Given the description of an element on the screen output the (x, y) to click on. 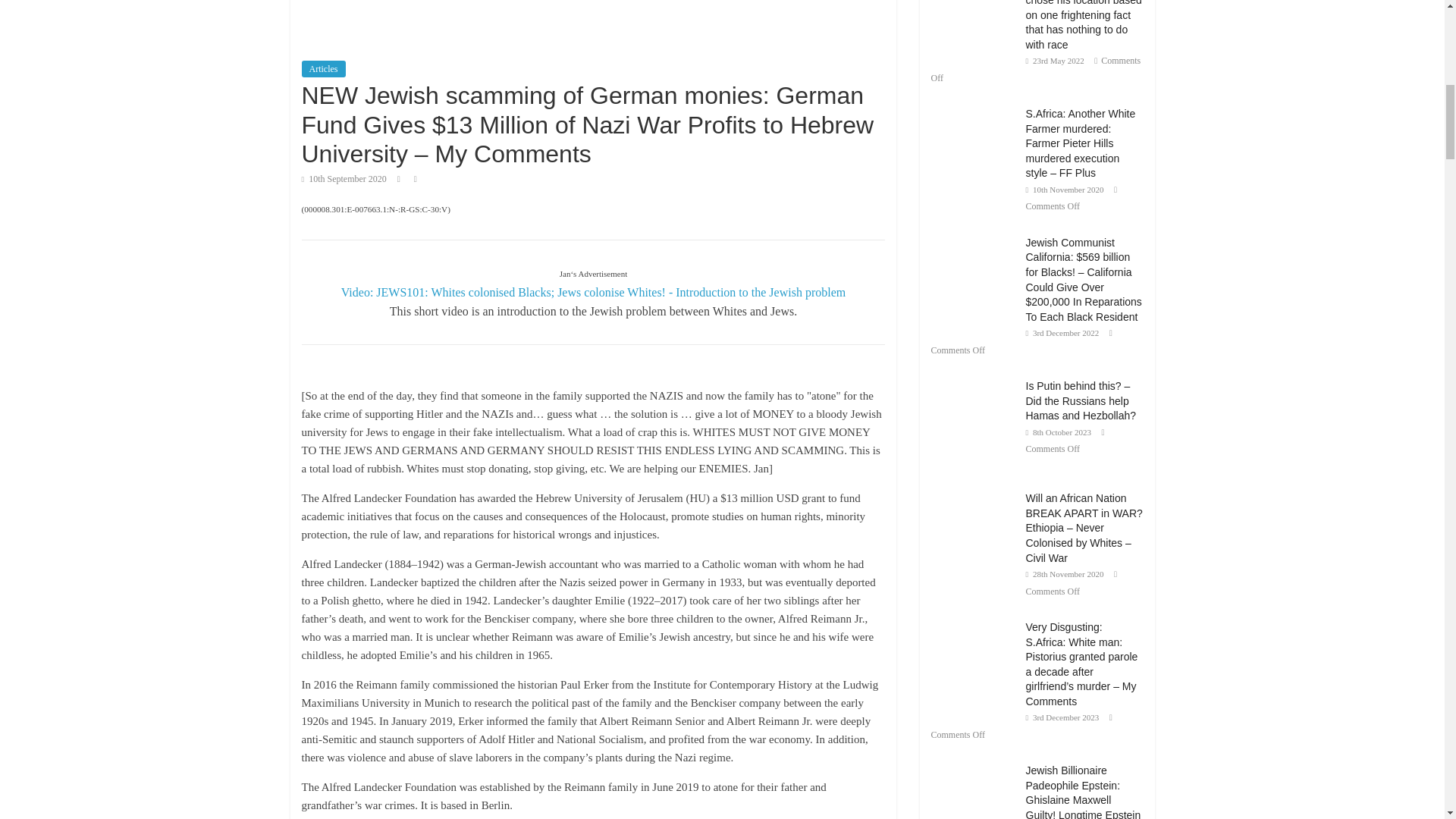
10th September 2020 (344, 178)
5:37 pm (344, 178)
Articles (323, 68)
